Given the description of an element on the screen output the (x, y) to click on. 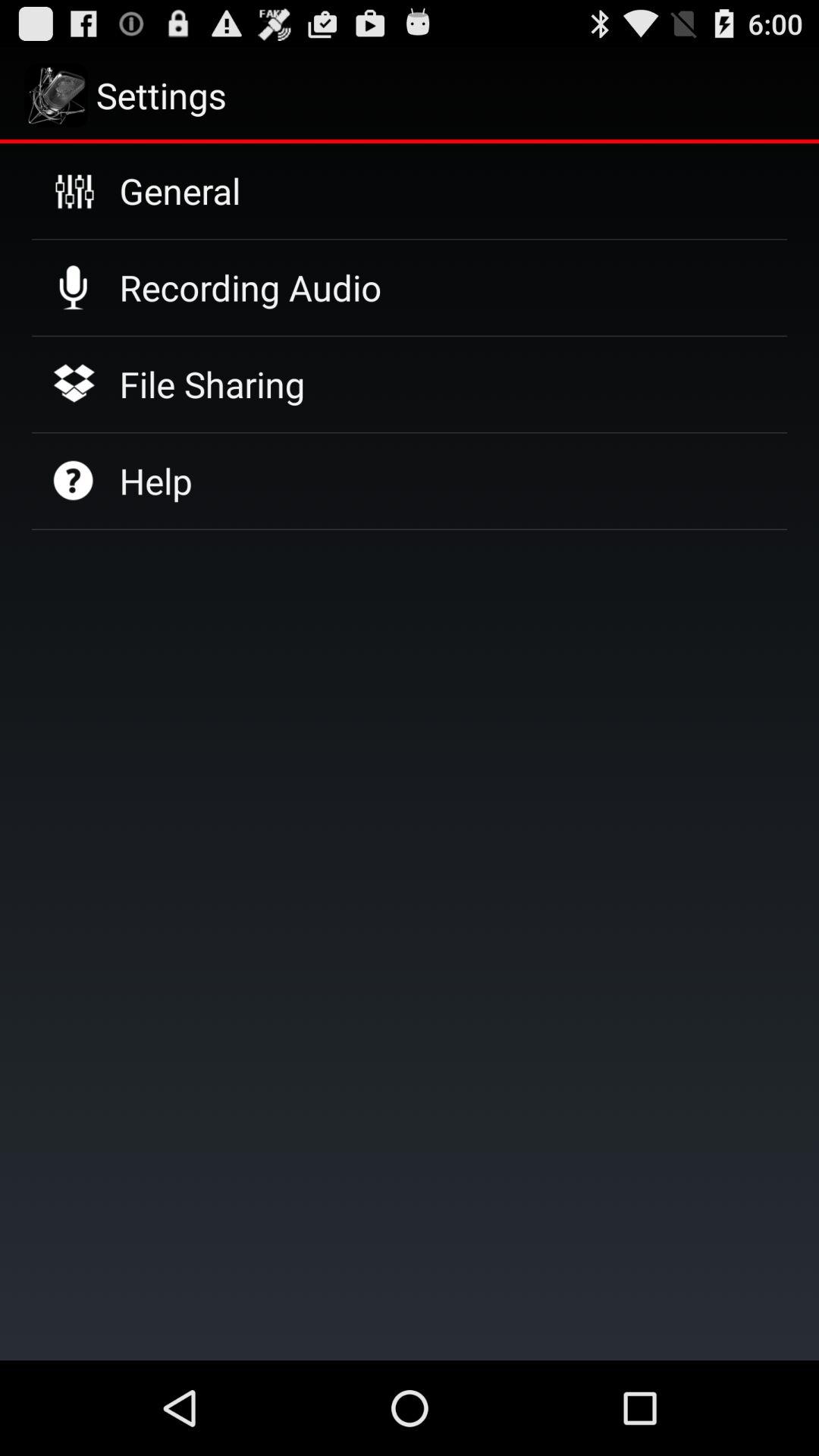
press icon below the settings icon (179, 190)
